Given the description of an element on the screen output the (x, y) to click on. 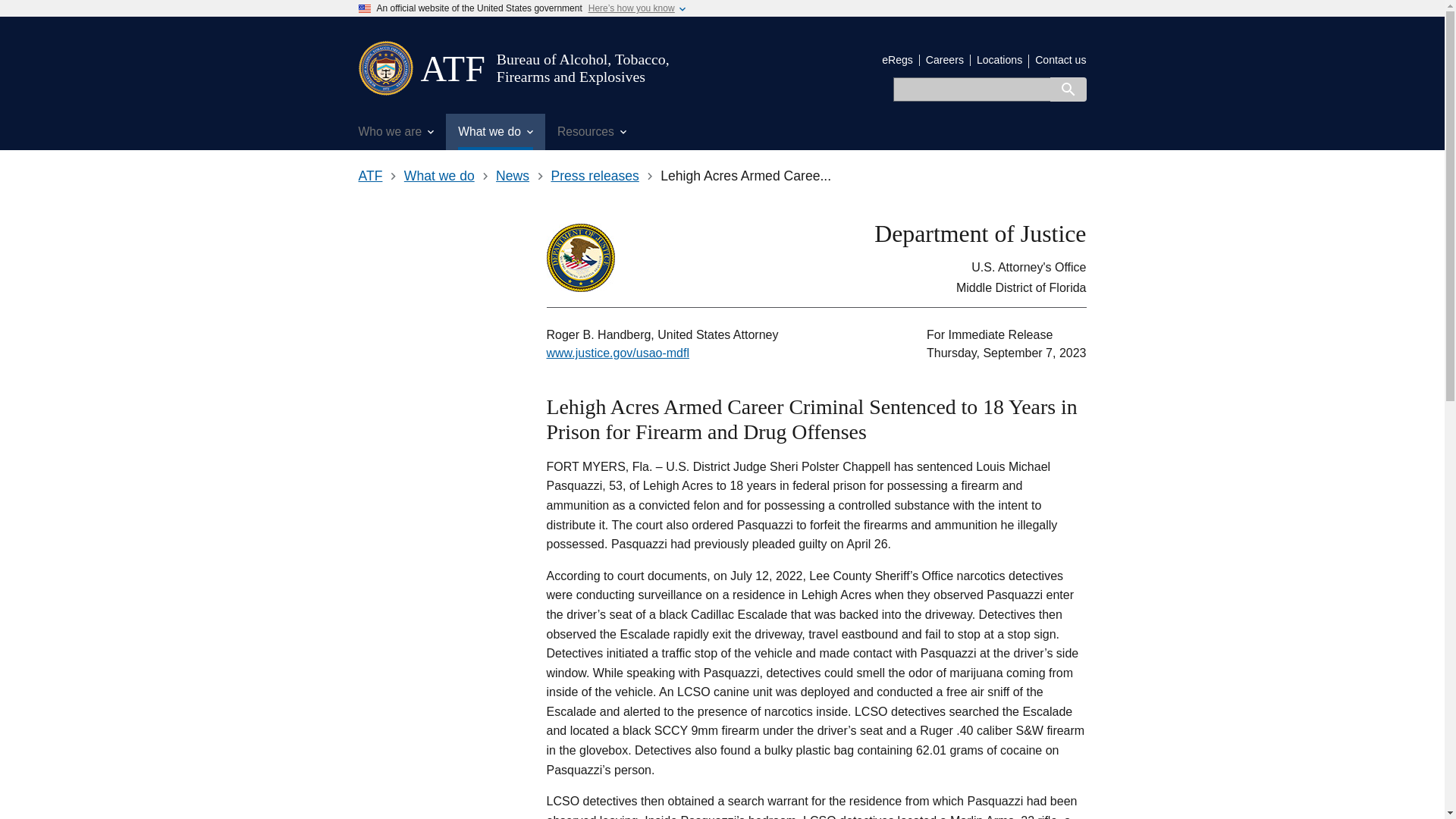
Search (1067, 88)
Contact us (1060, 59)
ATF (369, 175)
Who we are (395, 131)
Locations (999, 59)
ATF (452, 68)
Resources (591, 131)
Careers (944, 59)
What we do (439, 175)
News (512, 175)
